Given the description of an element on the screen output the (x, y) to click on. 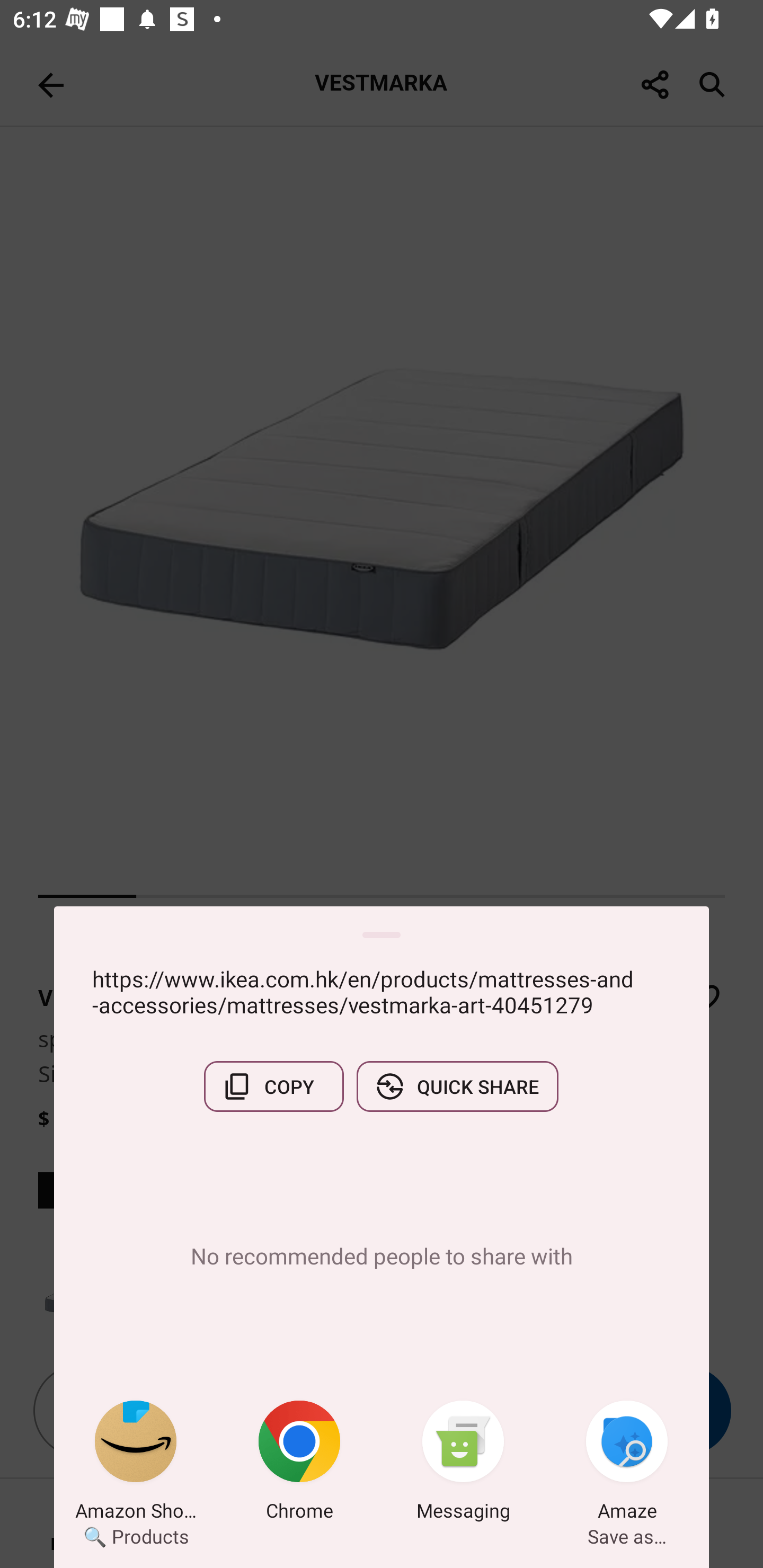
COPY (273, 1086)
QUICK SHARE (457, 1086)
Amazon Shopping 🔍 Products (135, 1463)
Chrome (299, 1463)
Messaging (463, 1463)
Amaze Save as… (626, 1463)
